Given the description of an element on the screen output the (x, y) to click on. 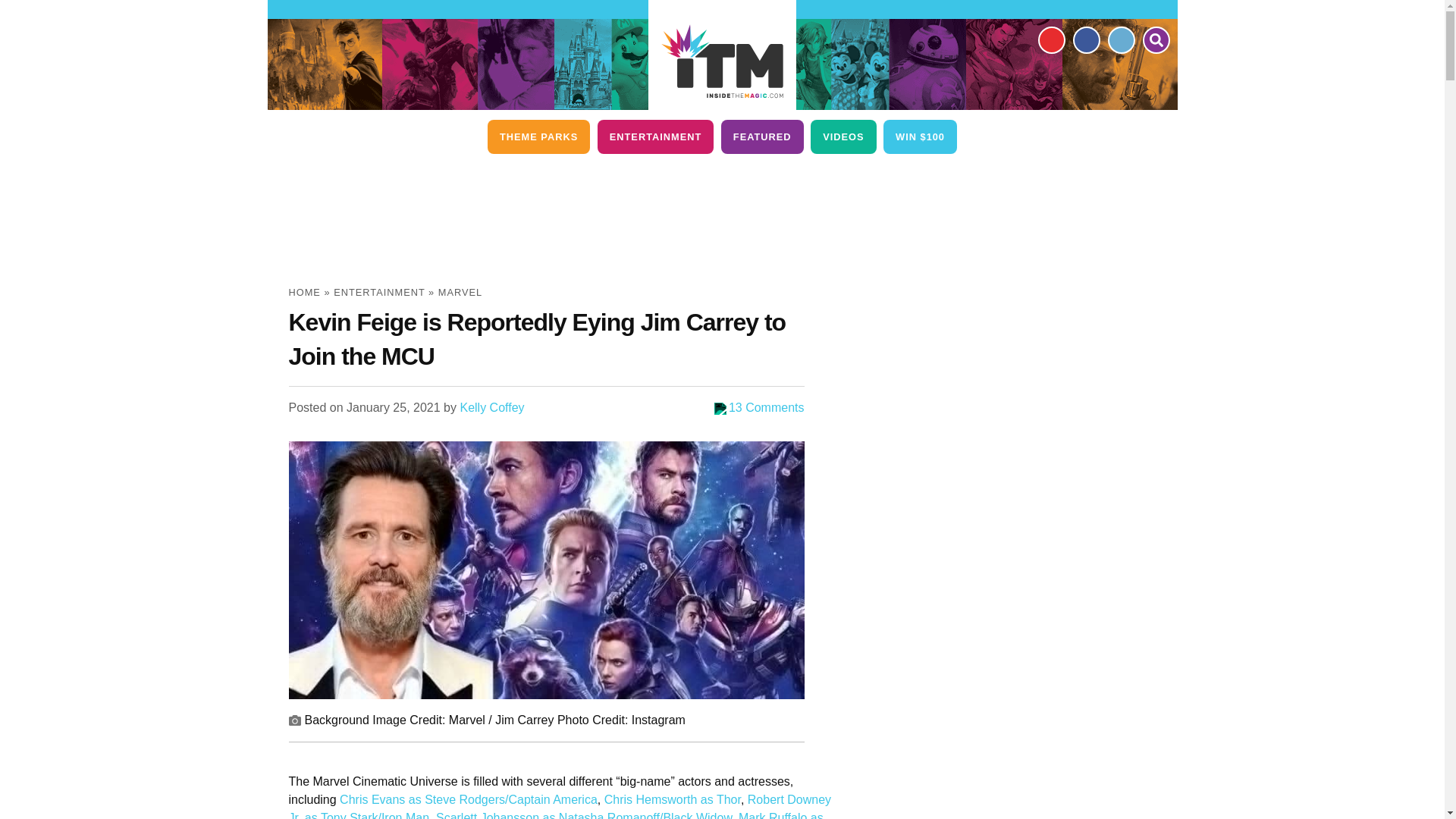
THEME PARKS (538, 136)
YouTube (1050, 40)
FEATURED (761, 136)
ENTERTAINMENT (655, 136)
Twitter (1120, 40)
Facebook (1085, 40)
Search (1155, 40)
